Given the description of an element on the screen output the (x, y) to click on. 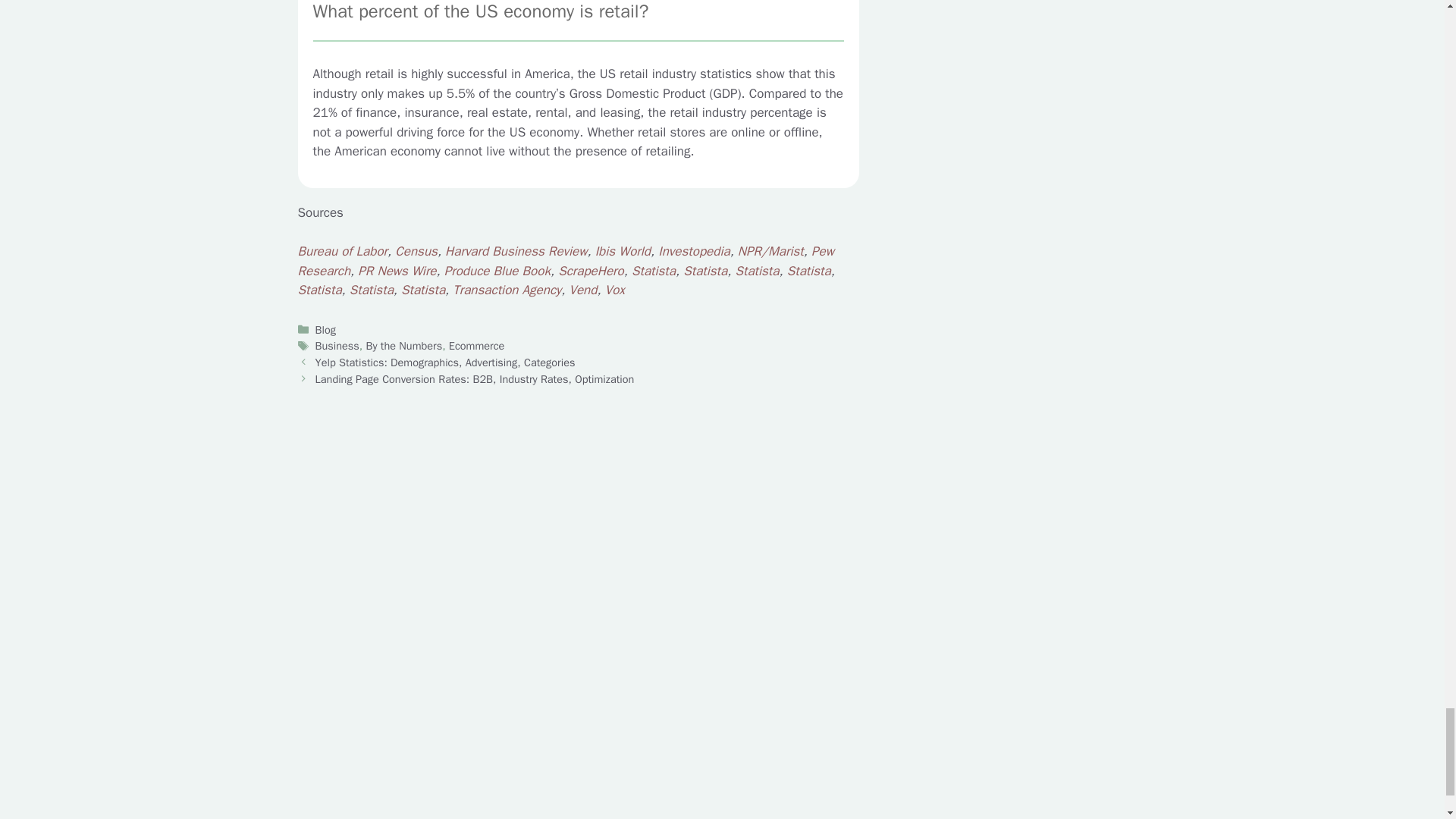
PR News Wire (396, 270)
Investopedia (693, 251)
Statista (704, 270)
Census (416, 251)
Harvard Business Review (515, 251)
Ibis World (622, 251)
Bureau of Labor (342, 251)
Pew Research (564, 261)
ScrapeHero (590, 270)
Statista (653, 270)
